Given the description of an element on the screen output the (x, y) to click on. 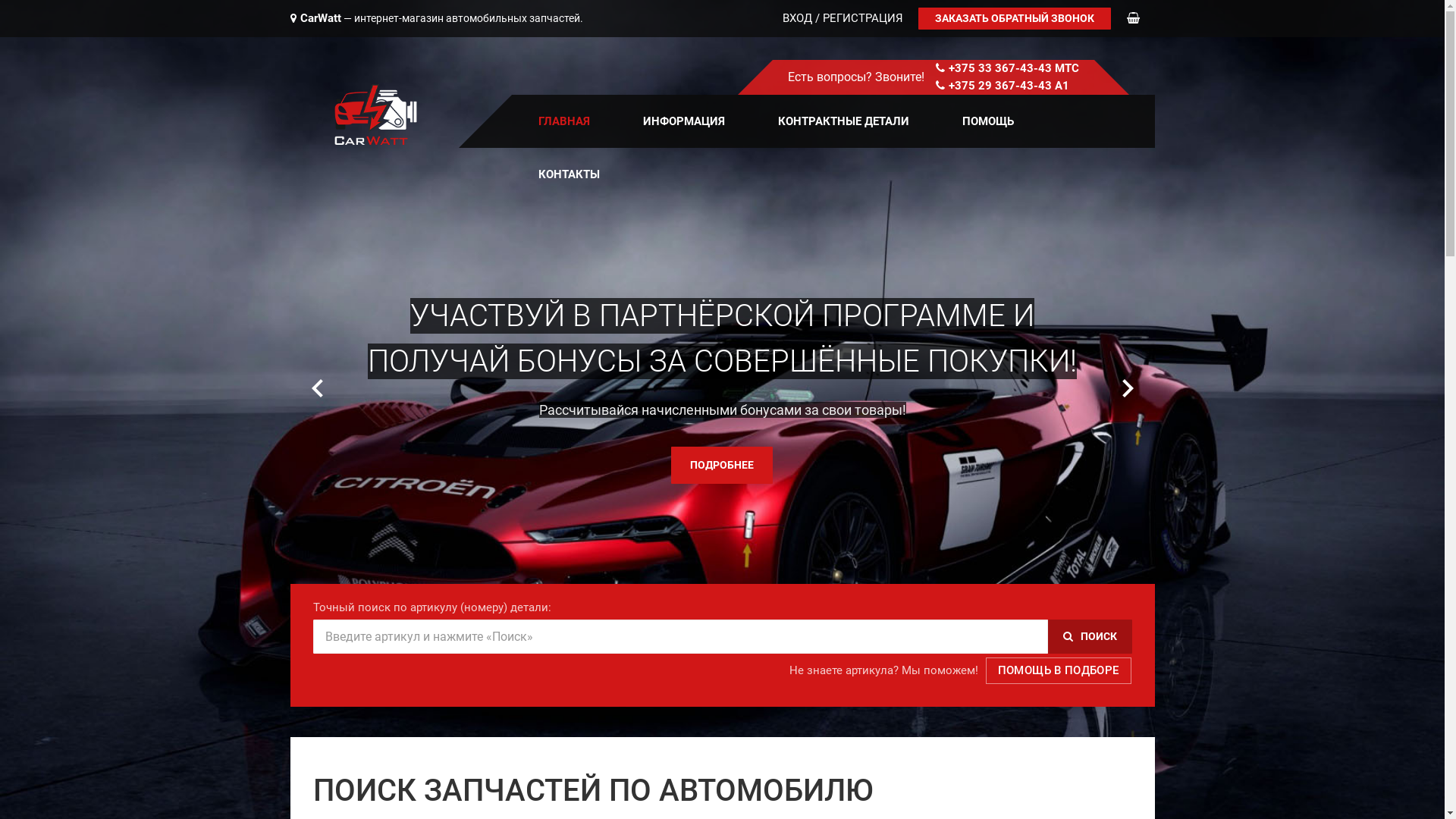
+375 29 367-43-43 A1 Element type: text (1007, 85)
